Given the description of an element on the screen output the (x, y) to click on. 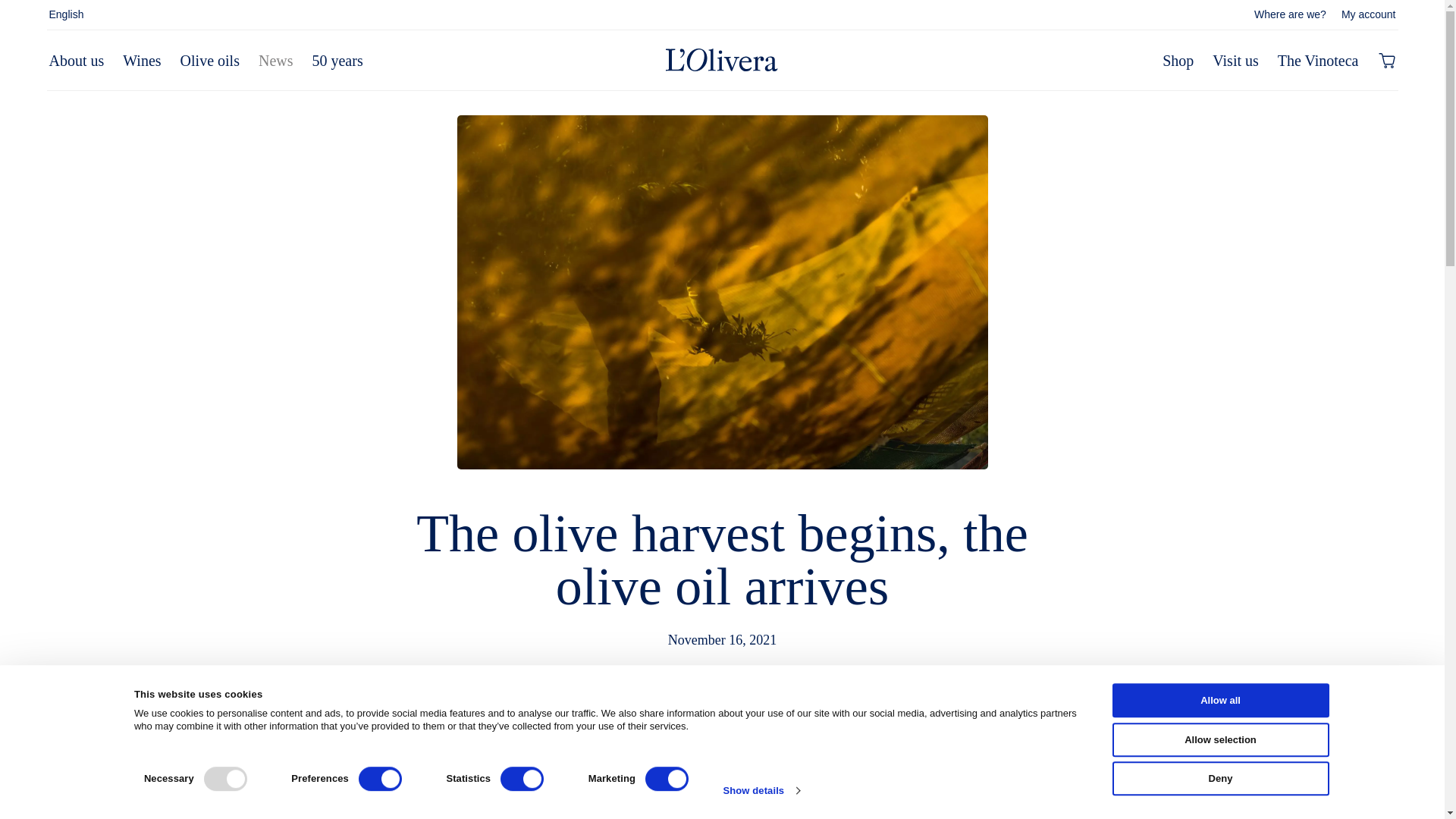
About us (75, 60)
Allow all (1219, 700)
English (65, 13)
Show details (761, 790)
Allow selection (1219, 739)
Deny (1219, 778)
My account (1368, 13)
Wines (141, 60)
Where are we? (1289, 13)
